Given the description of an element on the screen output the (x, y) to click on. 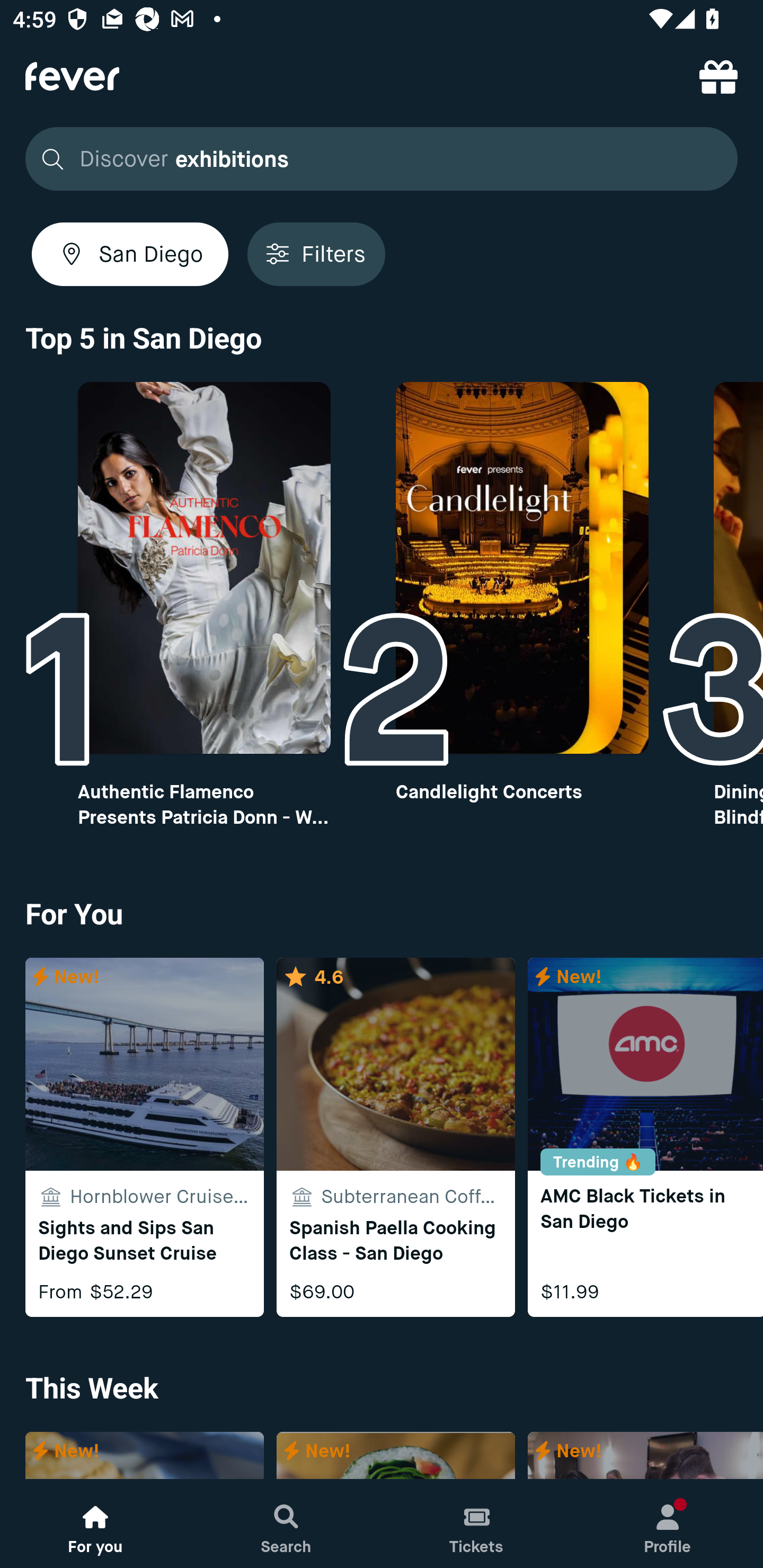
referral (718, 75)
Discover exhibitions (381, 158)
Discover exhibitions (376, 158)
San Diego (130, 253)
Filters (316, 253)
Top10 image (203, 568)
Top10 image (521, 568)
Search (285, 1523)
Tickets (476, 1523)
Profile, New notification Profile (667, 1523)
